Given the description of an element on the screen output the (x, y) to click on. 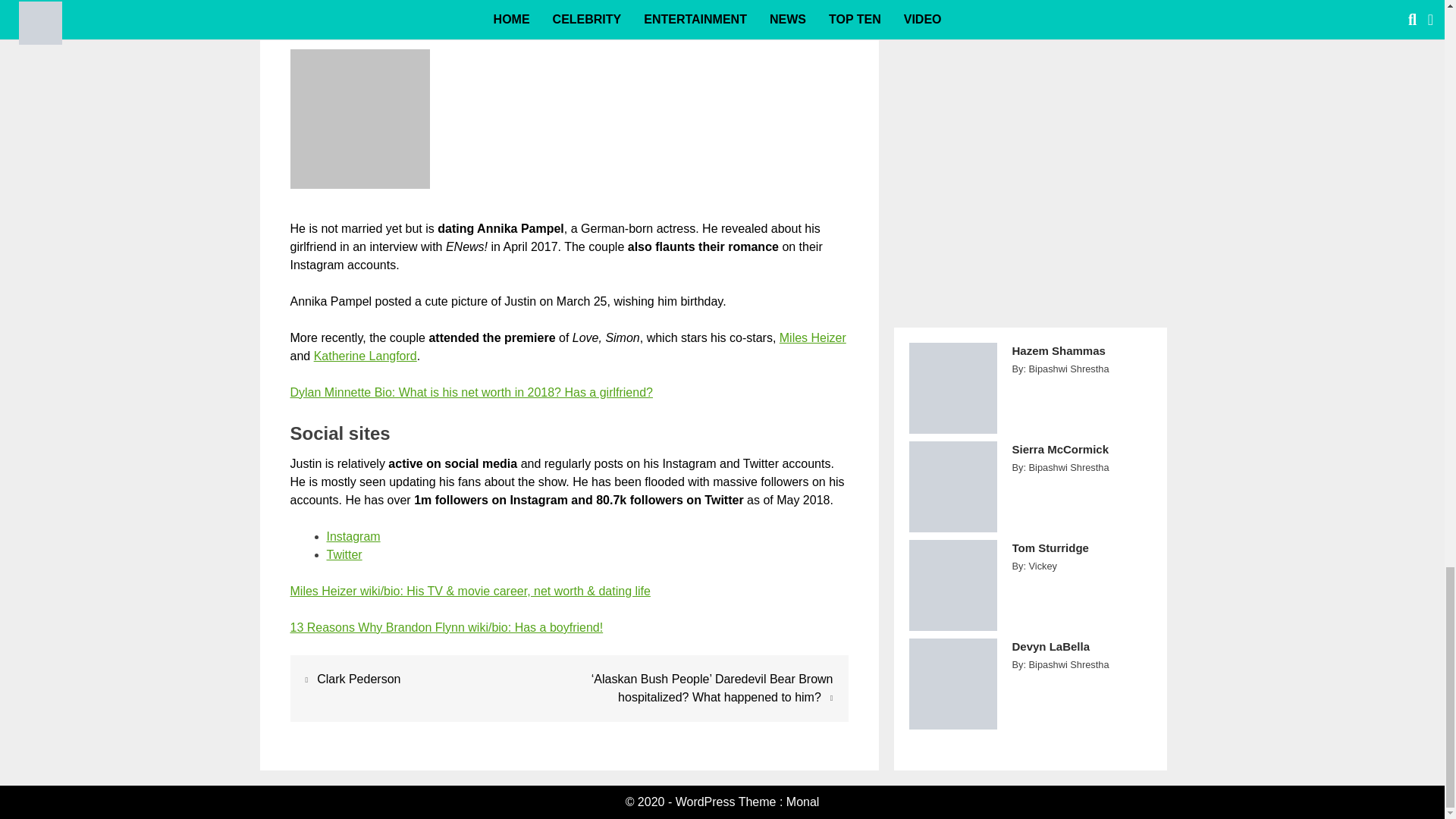
Miles Heizer (811, 337)
Instagram (353, 535)
Clark Pederson (358, 678)
Katherine Langford (365, 355)
Dylan Minnette (470, 391)
Miles Heizer (469, 590)
Justin Prentice is currently dating Annika Pampel (359, 119)
Brandon Flynn  (445, 626)
Twitter (343, 554)
